Given the description of an element on the screen output the (x, y) to click on. 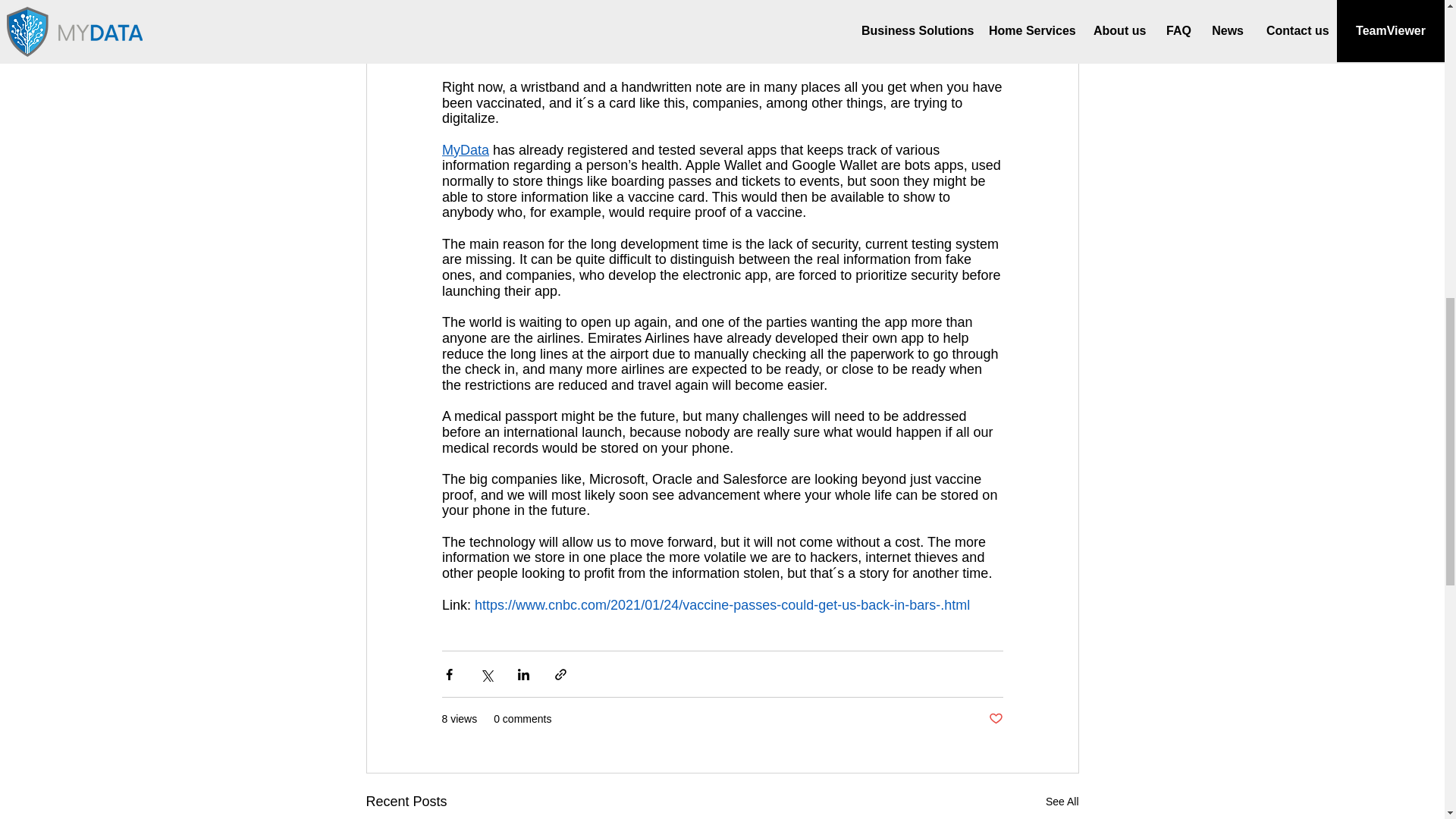
Post not marked as liked (995, 719)
MyData (464, 150)
See All (1061, 802)
